Given the description of an element on the screen output the (x, y) to click on. 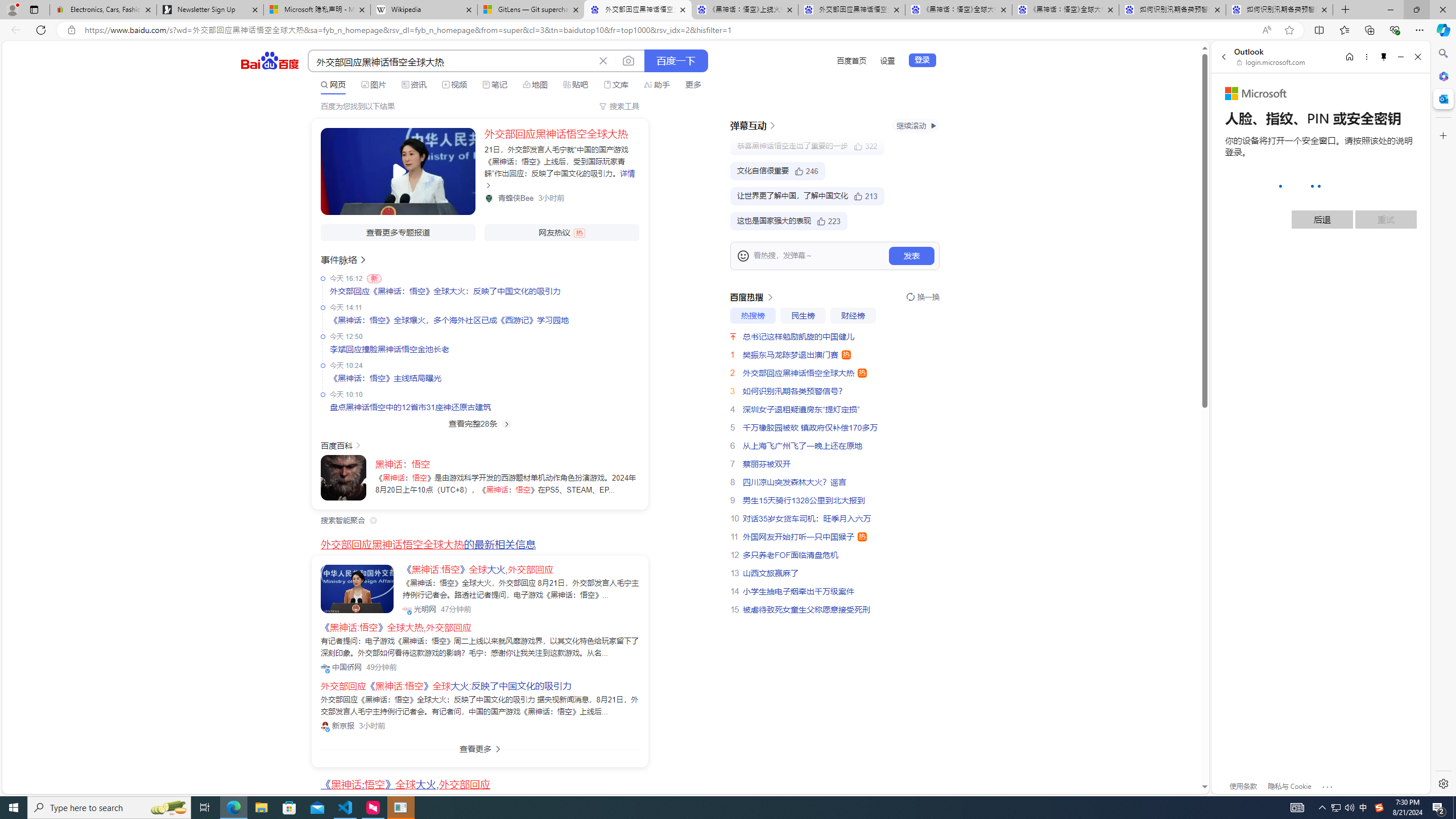
AutomationID: kw (451, 61)
